Given the description of an element on the screen output the (x, y) to click on. 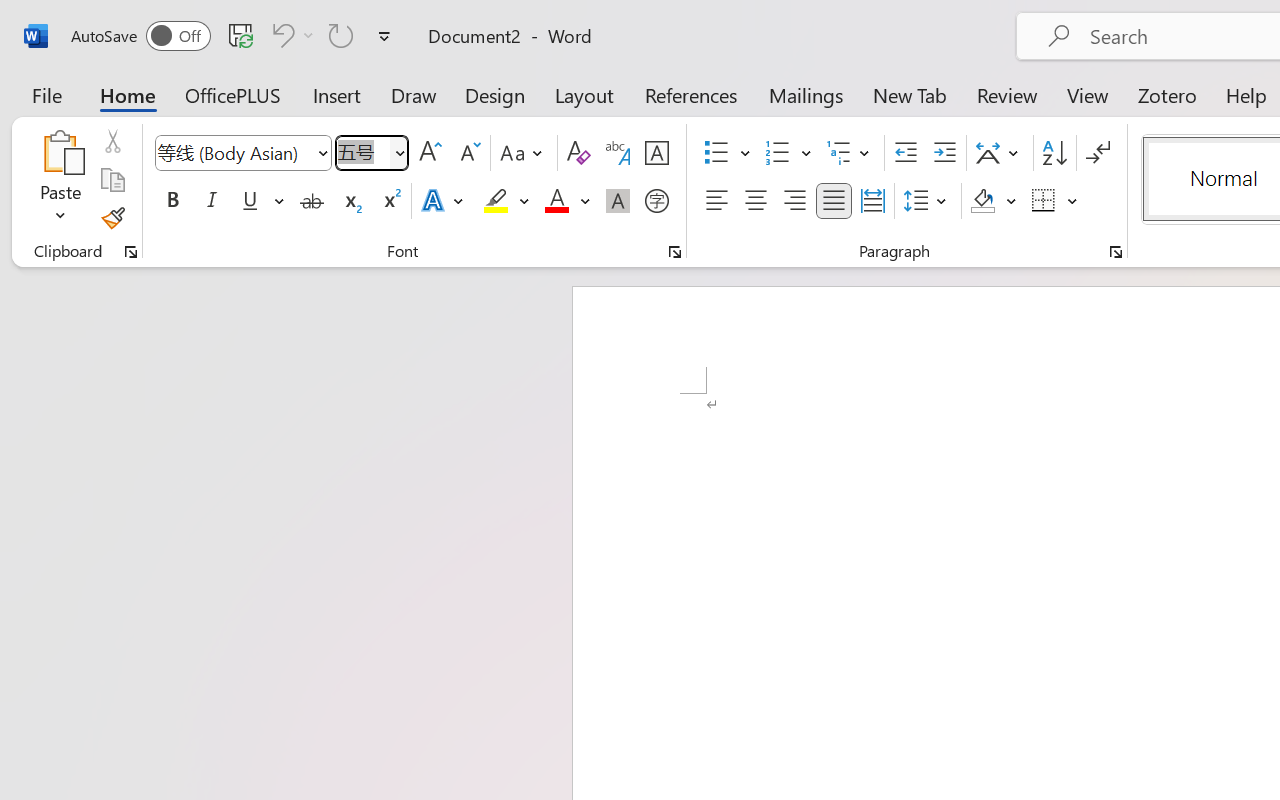
Layout (584, 94)
Italic (212, 201)
Draw (413, 94)
References (690, 94)
Grow Font (430, 153)
Bullets (716, 153)
Sort... (1054, 153)
Zotero (1166, 94)
Copy (112, 179)
Can't Repeat (341, 35)
Underline (261, 201)
OfficePLUS (233, 94)
Borders (1055, 201)
Office Clipboard... (131, 252)
